Given the description of an element on the screen output the (x, y) to click on. 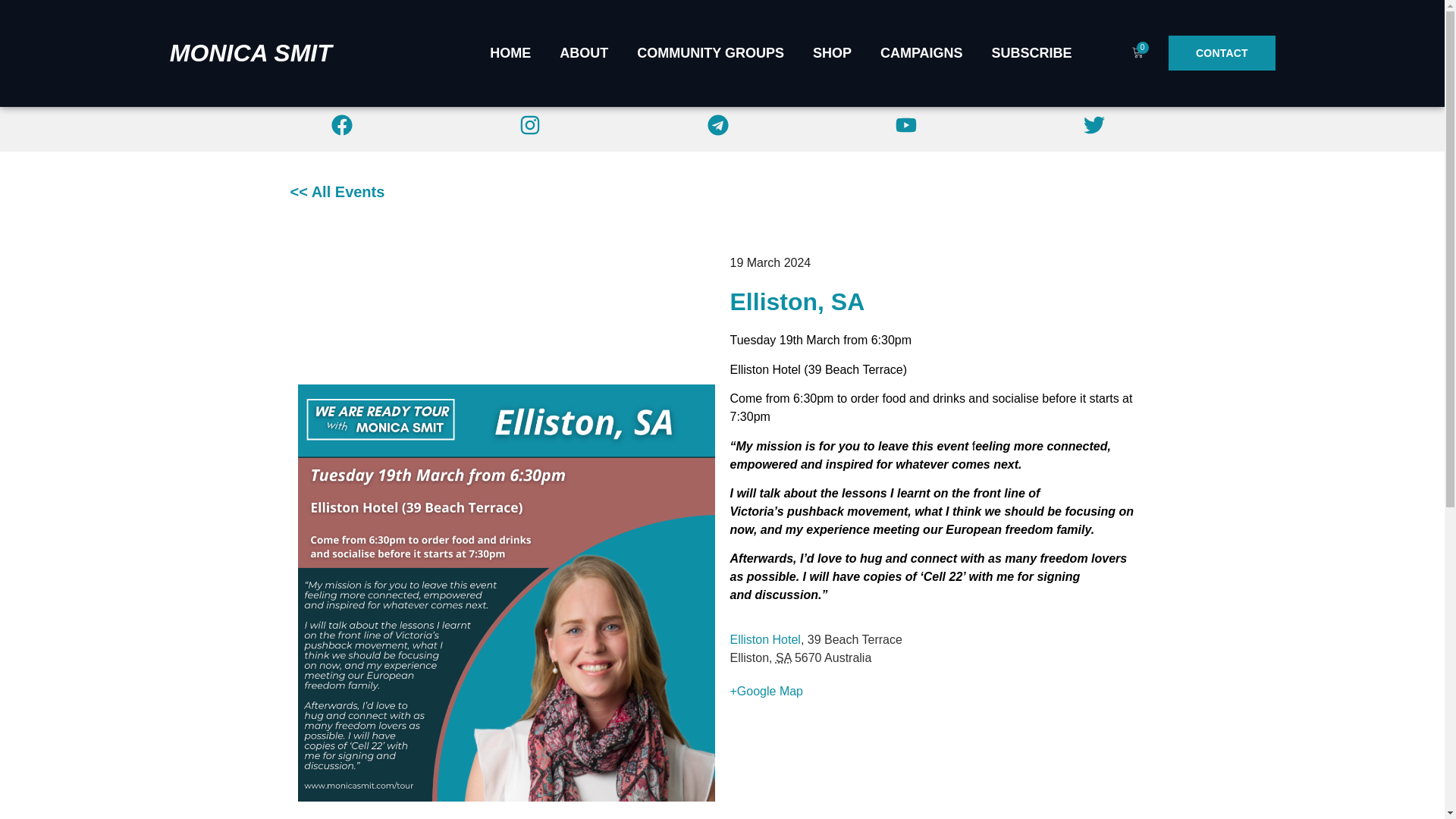
SHOP (831, 53)
SA (783, 657)
COMMUNITY GROUPS (710, 53)
HOME (510, 53)
Elliston Hotel (764, 639)
SUBSCRIBE (1031, 53)
CONTACT (1222, 53)
0 (1137, 52)
MONICA SMIT (250, 52)
ABOUT (583, 53)
CAMPAIGNS (921, 53)
